Given the description of an element on the screen output the (x, y) to click on. 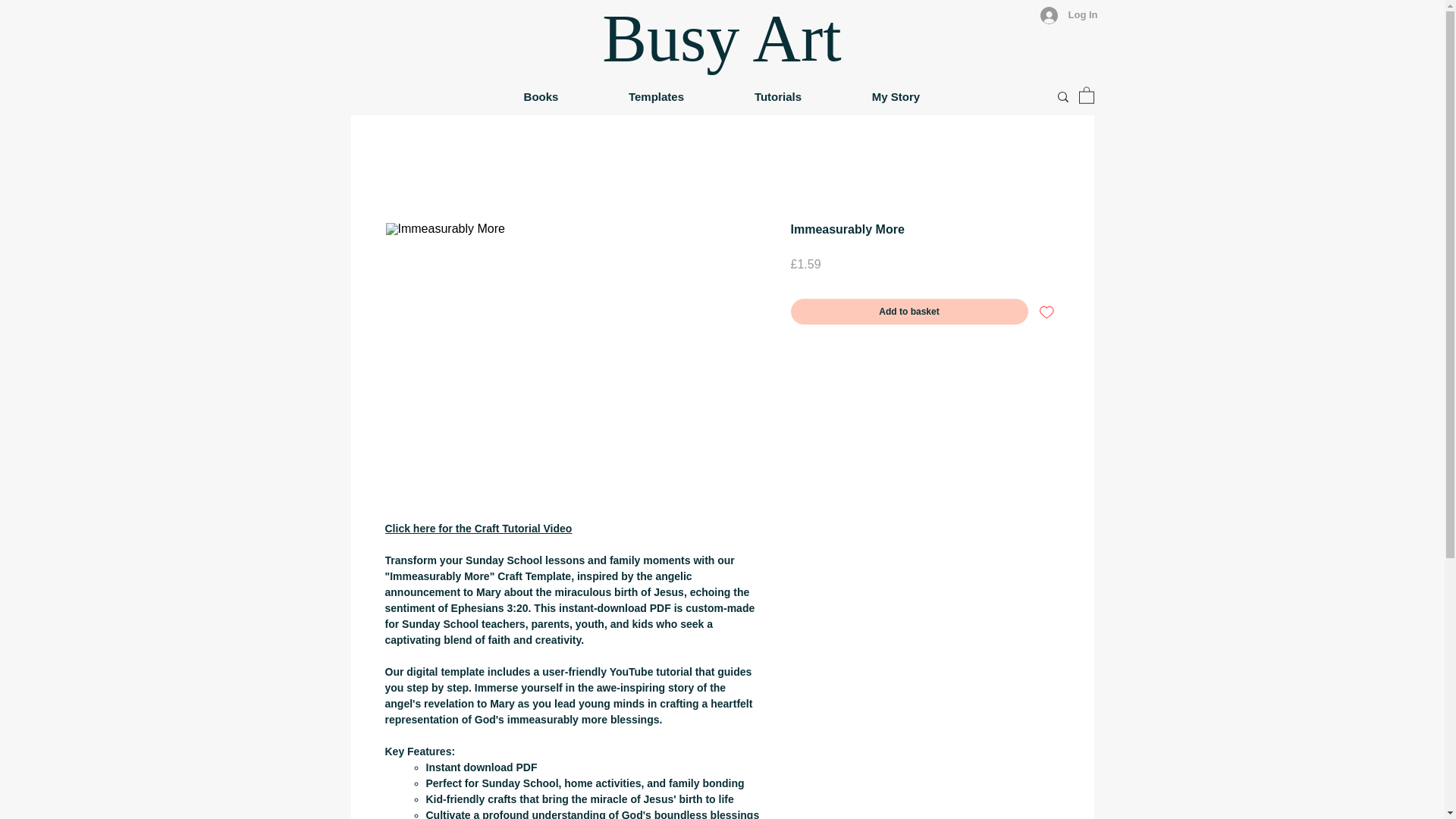
Busy Art (721, 38)
My Story (896, 96)
Books (539, 96)
Log In (1061, 14)
Tutorials (777, 96)
Click here for the Craft Tutorial Video (478, 528)
Add to basket (908, 311)
Templates (655, 96)
